Given the description of an element on the screen output the (x, y) to click on. 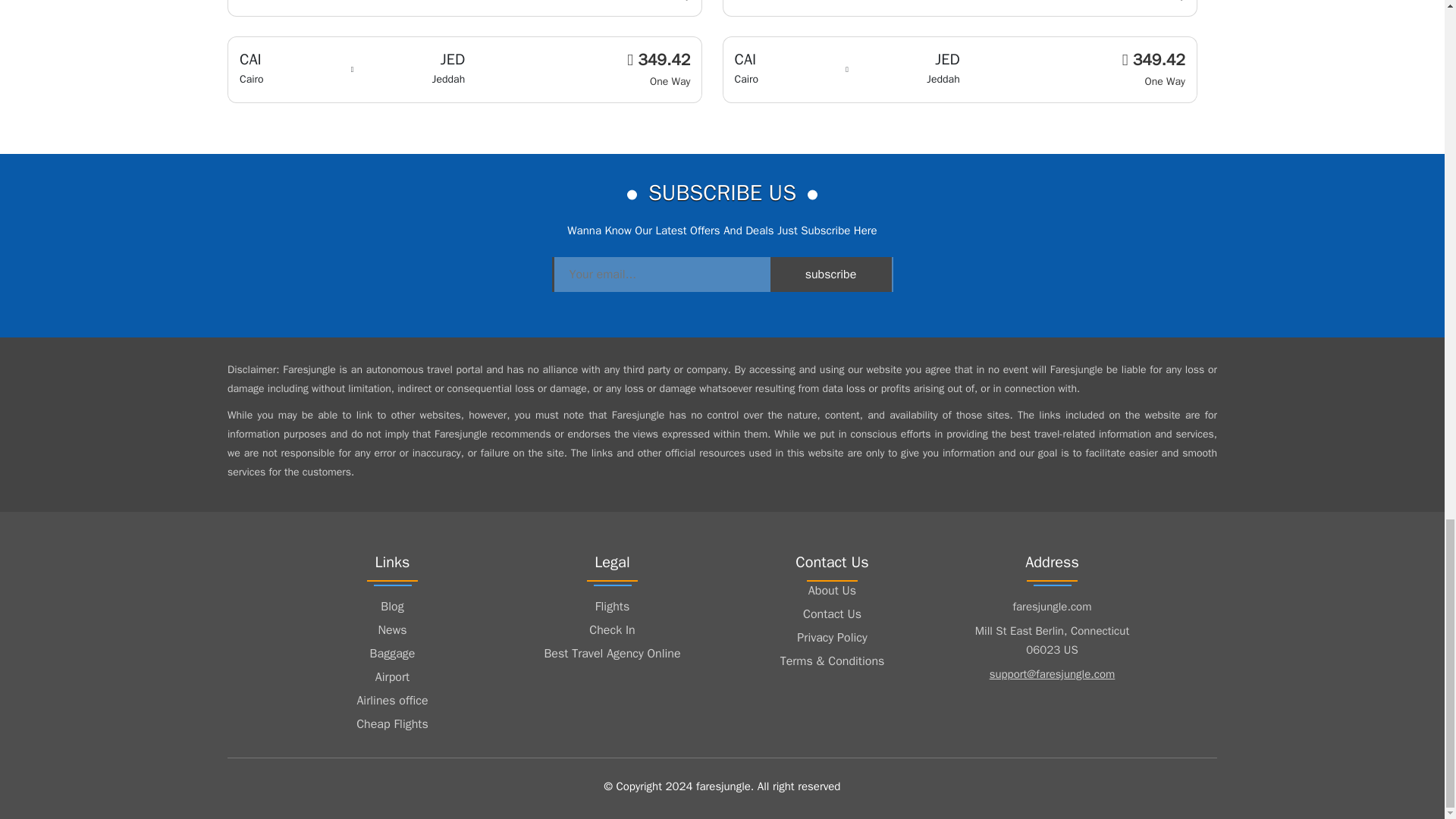
subscribe (830, 274)
Blog (392, 606)
Airport (392, 677)
News (392, 629)
Flights (612, 606)
Best Travel Agency Online (612, 653)
Privacy Policy (832, 637)
Airlines office (392, 700)
Cheap Flights (392, 723)
Contact Us (832, 614)
